Given the description of an element on the screen output the (x, y) to click on. 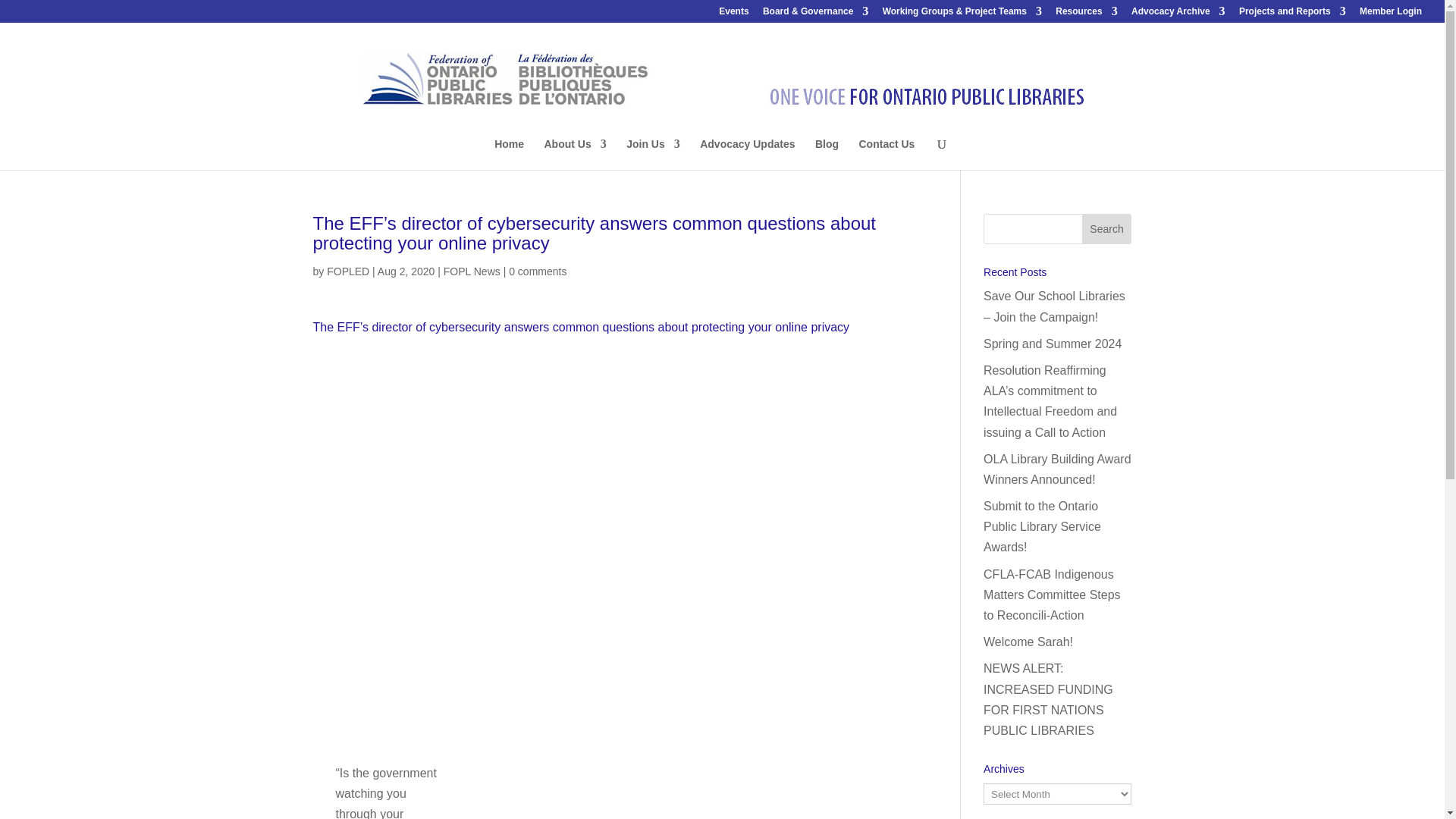
Posts by FOPLED (347, 271)
Events (733, 14)
Resources (1085, 14)
Projects and Reports (1292, 14)
Search (1106, 228)
Advocacy Archive (1178, 14)
